Given the description of an element on the screen output the (x, y) to click on. 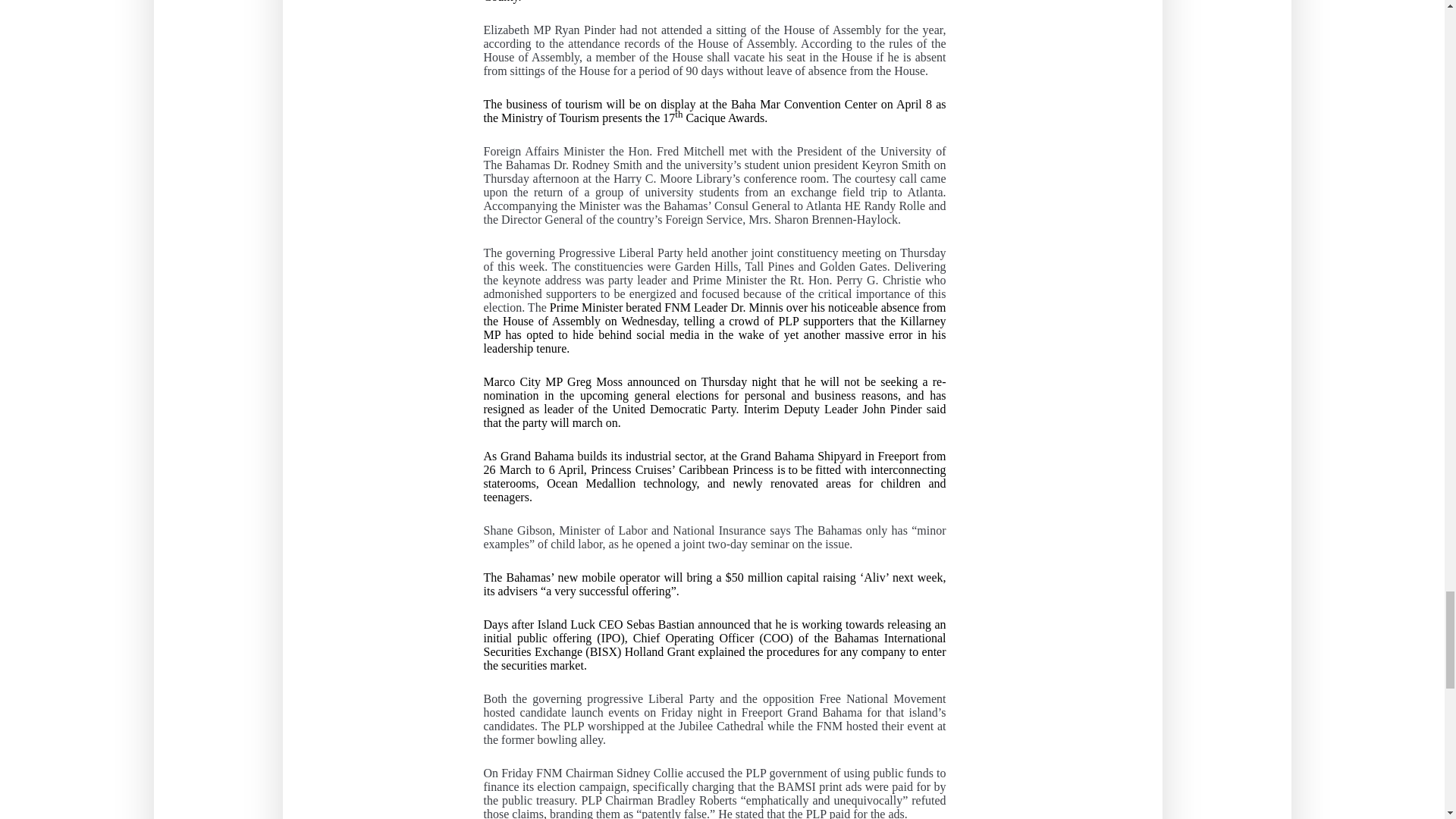
is to be fitted (809, 469)
